Given the description of an element on the screen output the (x, y) to click on. 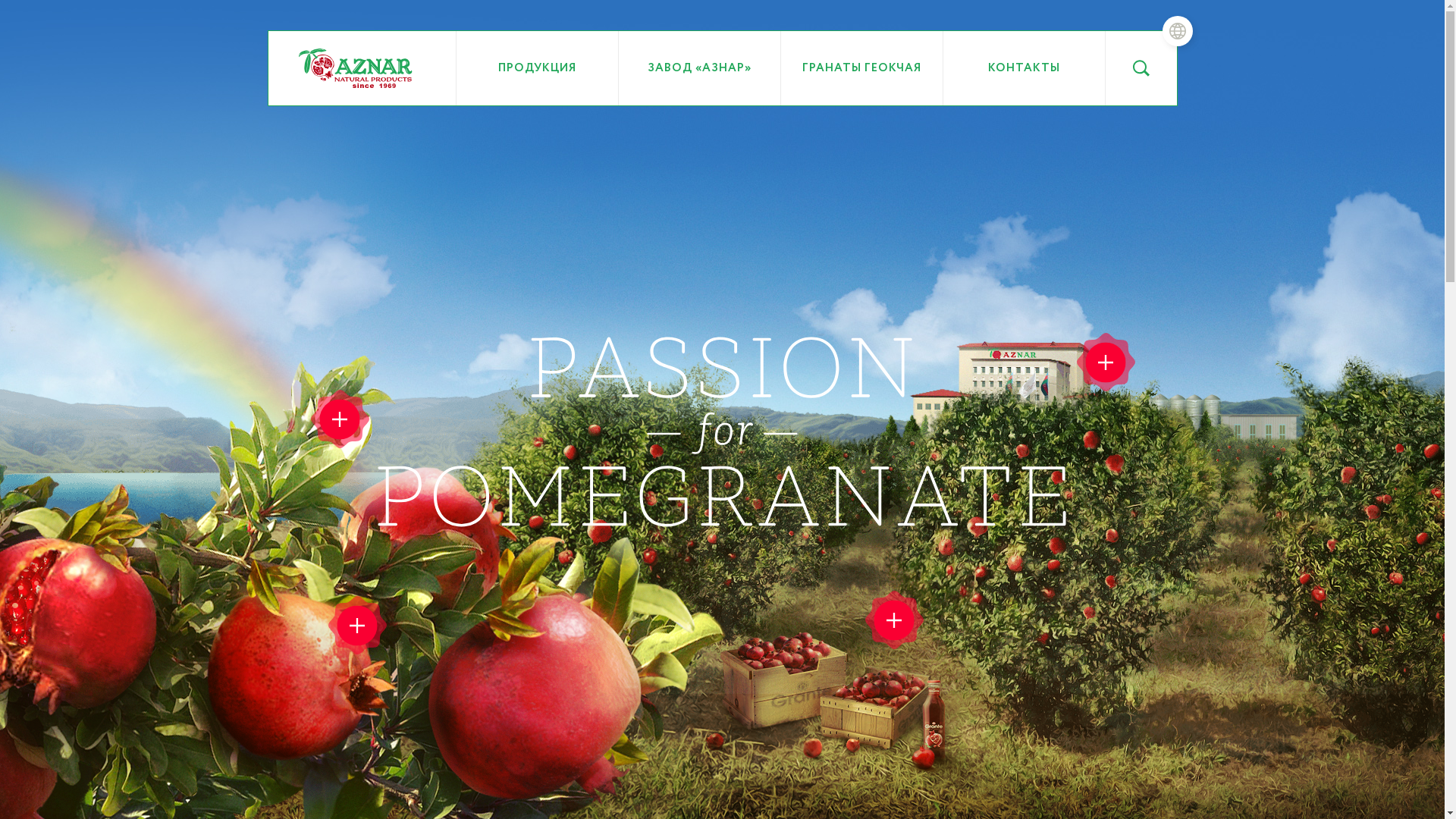
AZ Element type: text (935, 105)
